Given the description of an element on the screen output the (x, y) to click on. 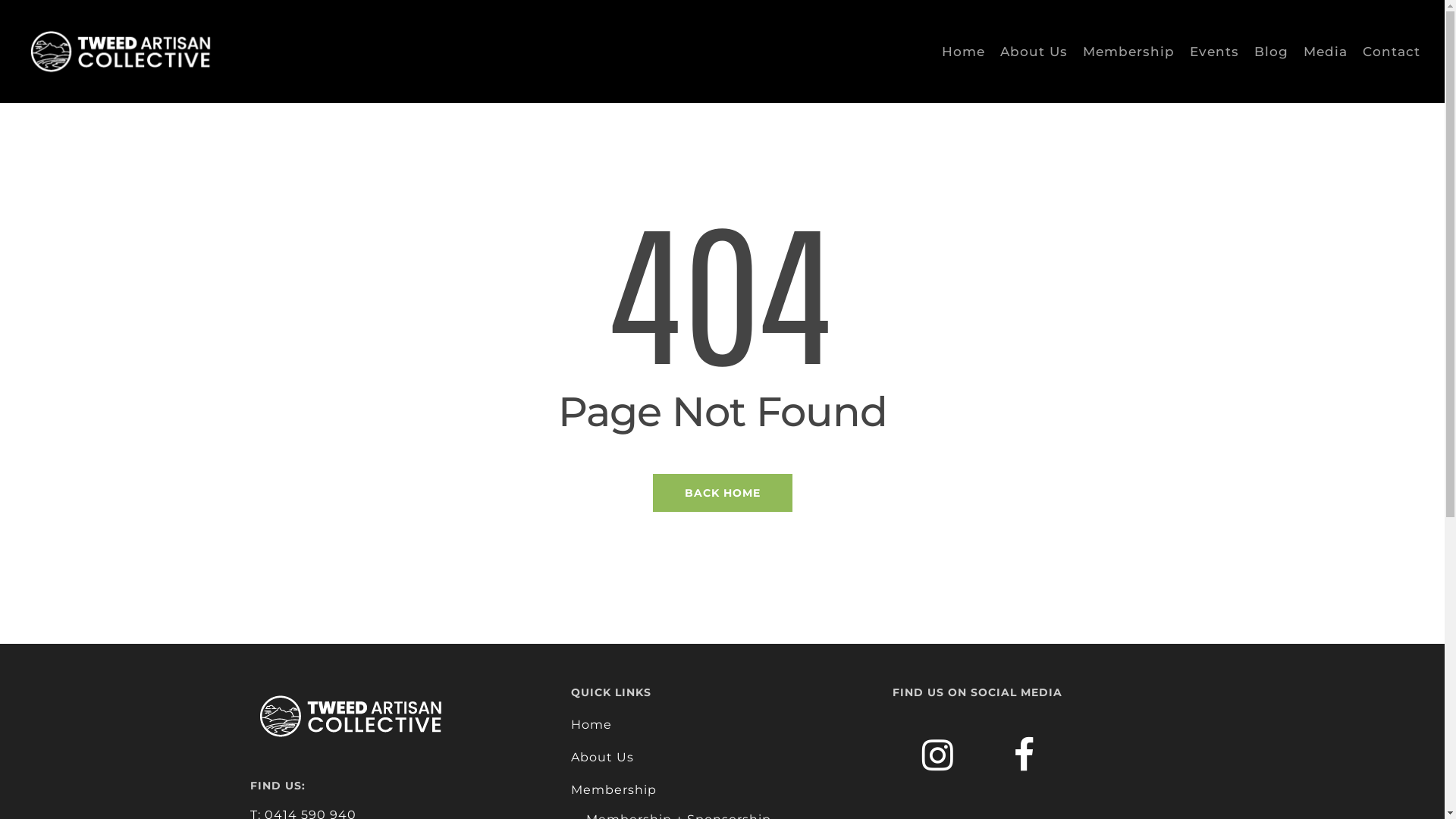
Contact Element type: text (1391, 51)
Media Element type: text (1325, 51)
About Us Element type: text (721, 756)
Home Element type: text (963, 51)
Membership Element type: text (721, 789)
Membership Element type: text (1128, 51)
BACK HOME Element type: text (721, 492)
Blog Element type: text (1271, 51)
Events Element type: text (1214, 51)
About Us Element type: text (1033, 51)
Home Element type: text (721, 724)
